Given the description of an element on the screen output the (x, y) to click on. 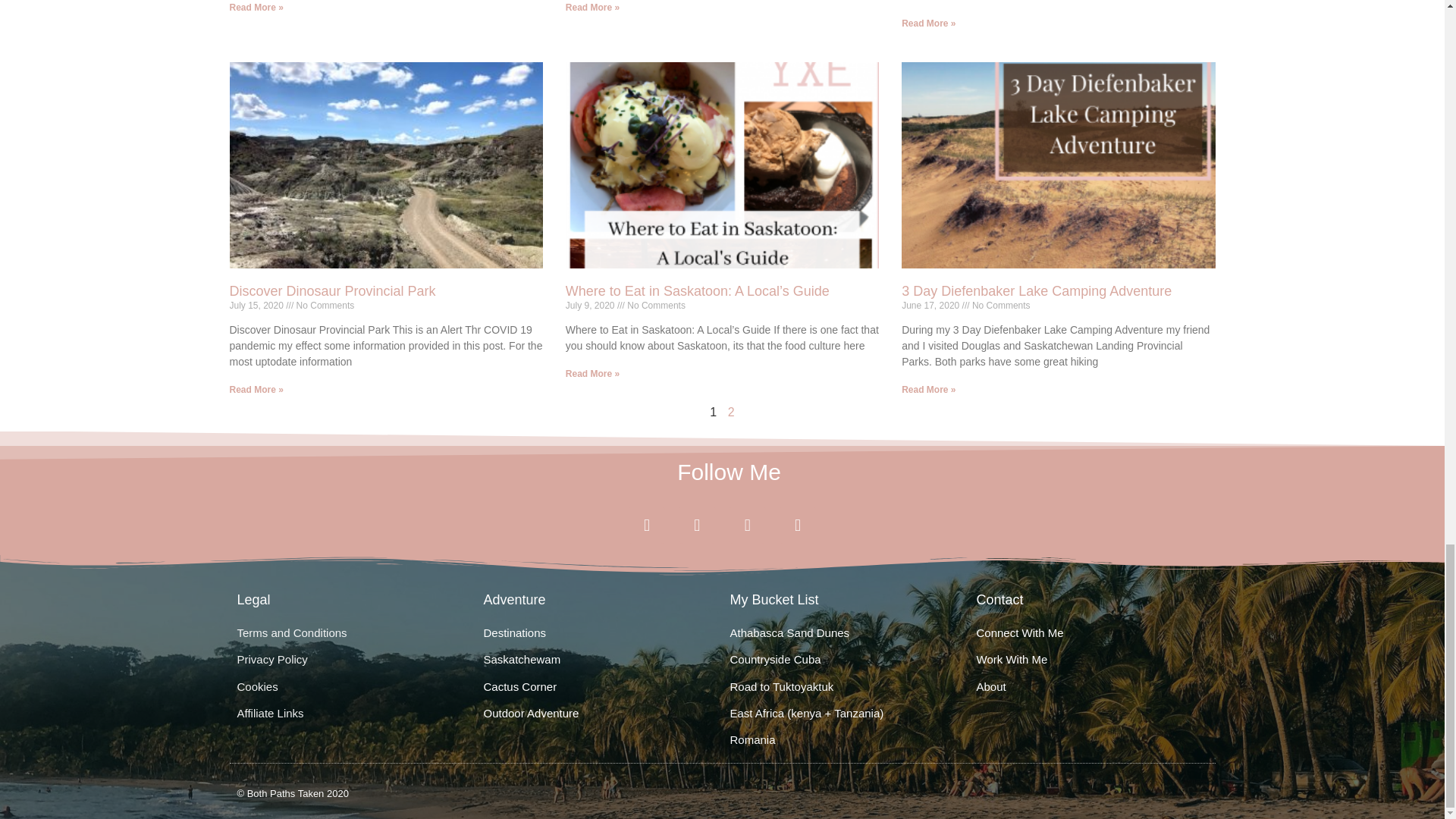
Discover Dinosaur Provincial Park (331, 290)
3 Day Diefenbaker Lake Camping Adventure (1036, 290)
